Given the description of an element on the screen output the (x, y) to click on. 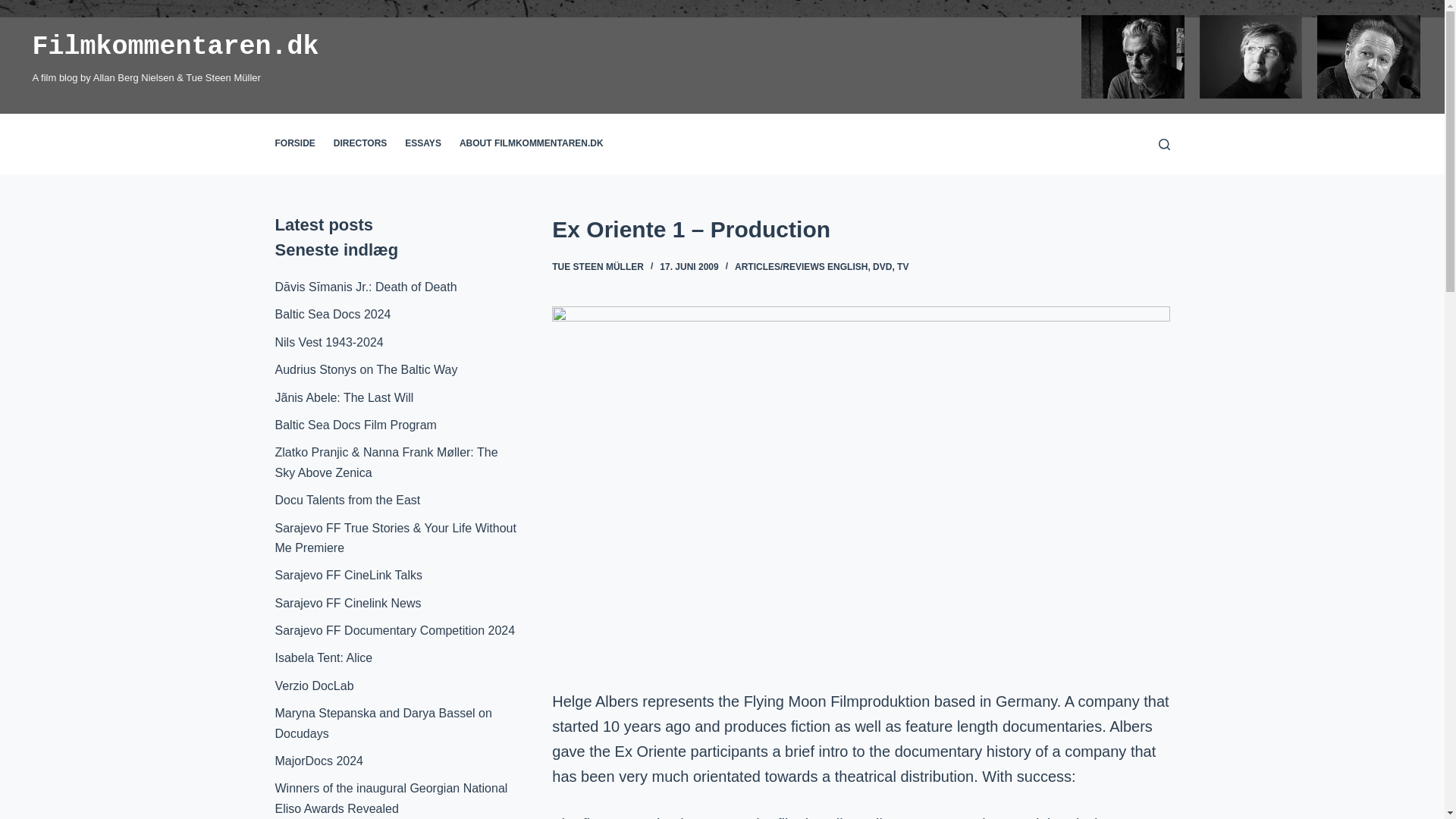
DVD (881, 266)
Filmkommentaren.dk (175, 46)
ESSAYS (422, 143)
Baltic Sea Docs 2024 (332, 314)
TV (902, 266)
Baltic Sea Docs Film Program (355, 424)
Nils Vest 1943-2024 (328, 341)
DIRECTORS (360, 143)
Docu Talents from the East (347, 499)
ABOUT FILMKOMMENTAREN.DK (530, 143)
